Given the description of an element on the screen output the (x, y) to click on. 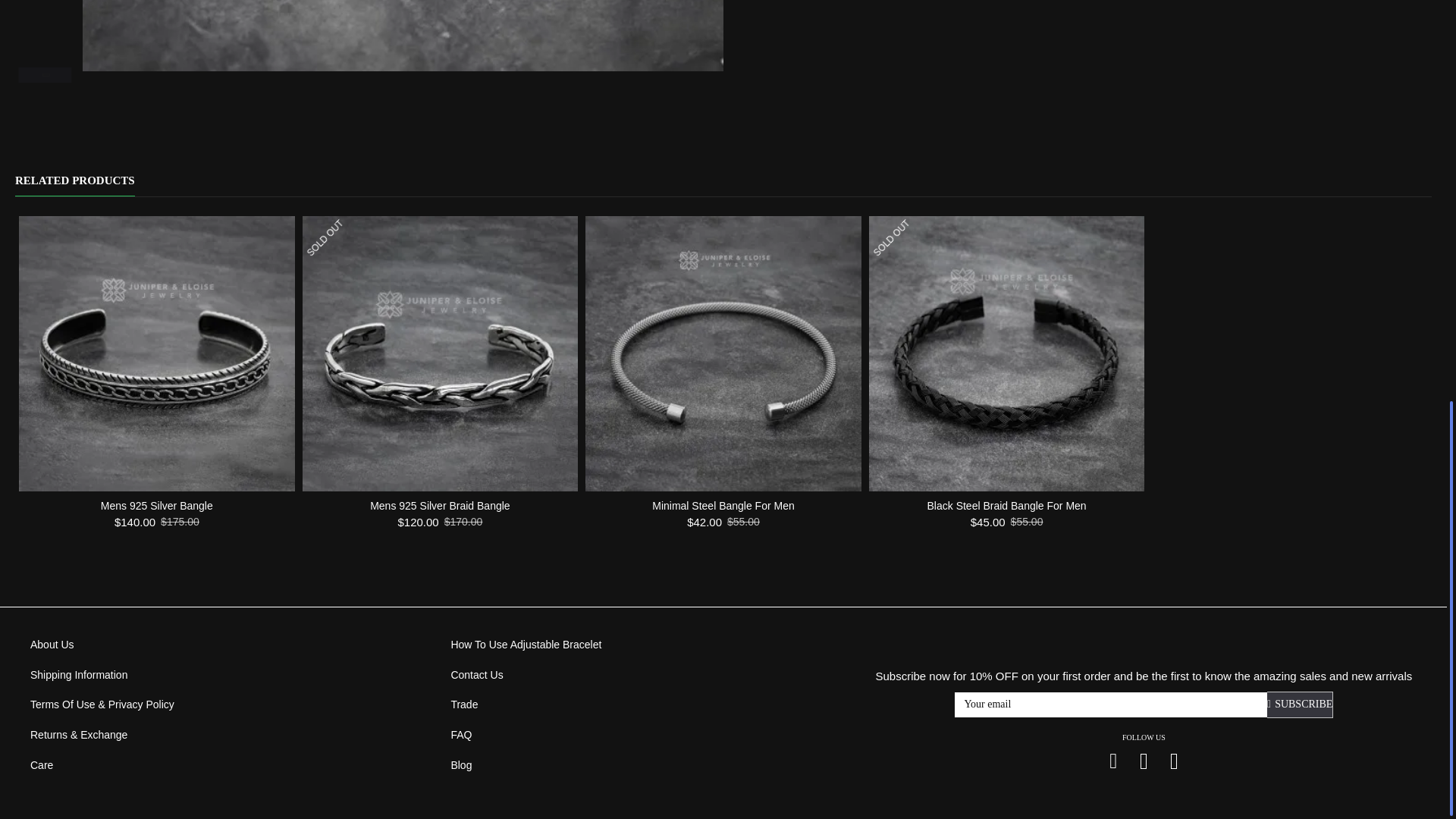
Minimal Steel Bangle For Men (723, 354)
Men's Premium 925 Silver Cuff (402, 35)
Black Steel Braid Bangle For Men (1006, 354)
Mens 925 Silver Braid Bangle (440, 354)
Mens 925 Silver Bangle (156, 354)
